Given the description of an element on the screen output the (x, y) to click on. 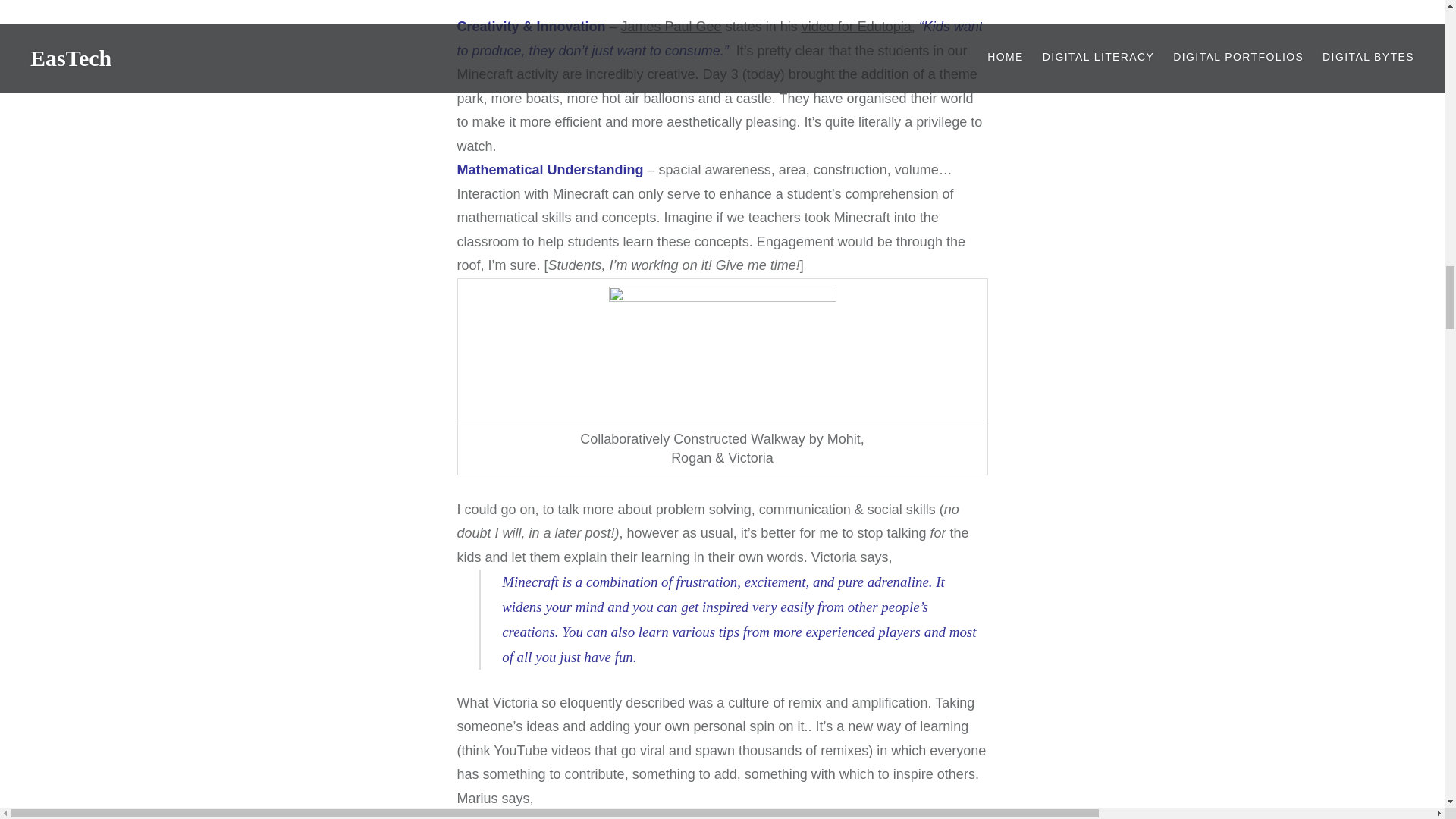
James Paul Gee (671, 26)
video for Edutopia (856, 26)
